Given the description of an element on the screen output the (x, y) to click on. 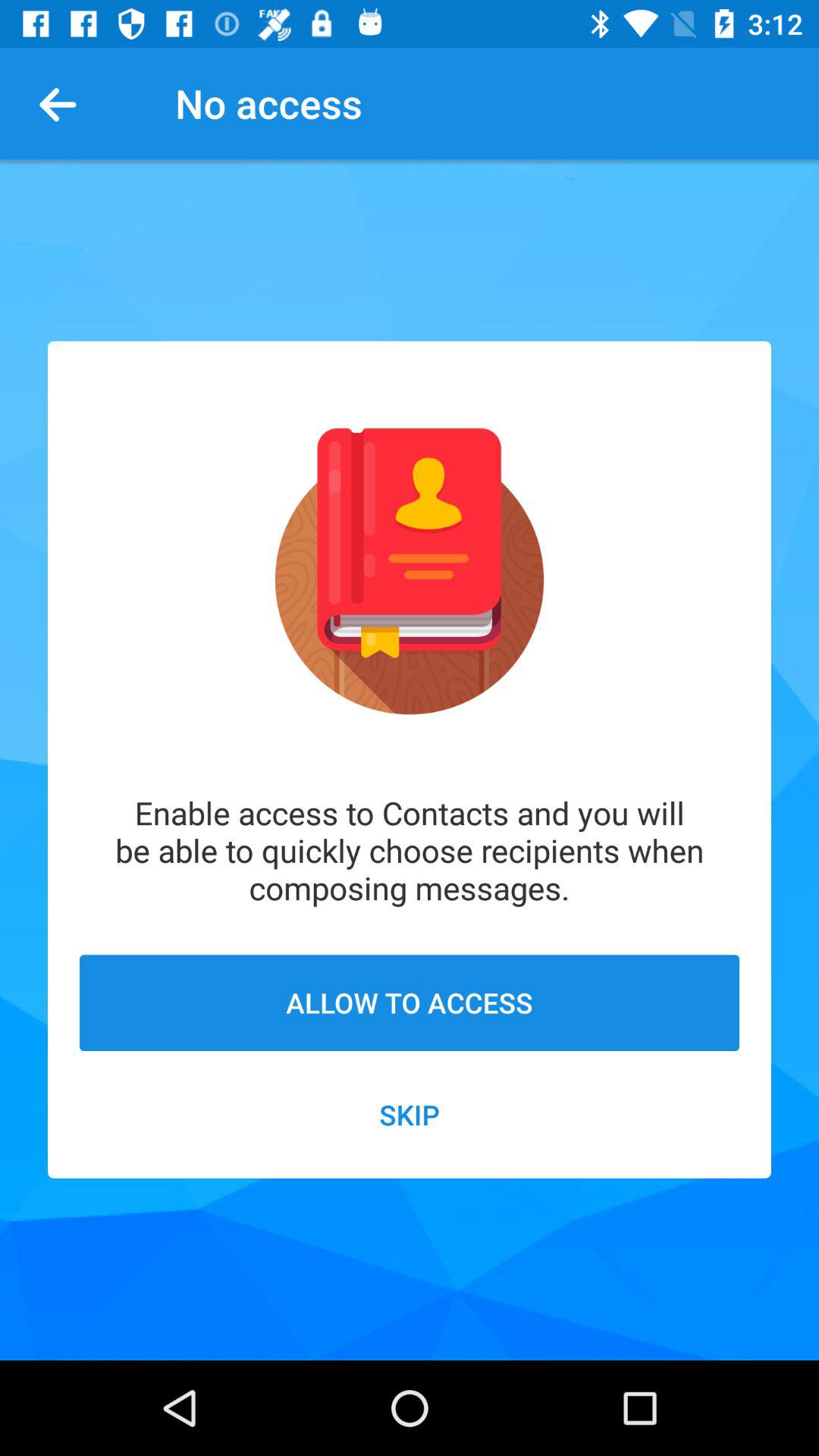
jump to skip (409, 1114)
